Given the description of an element on the screen output the (x, y) to click on. 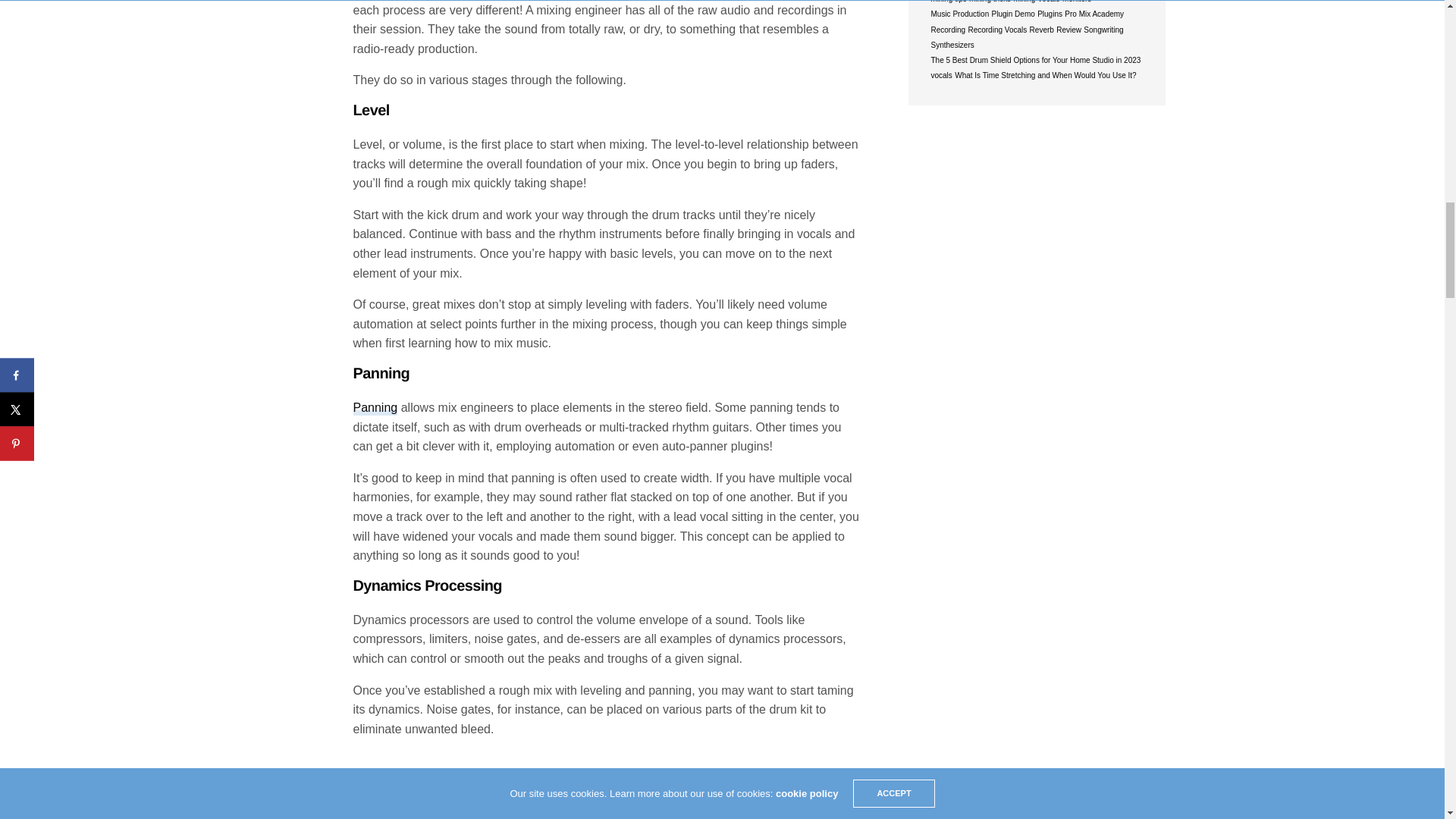
Panning (375, 408)
